Given the description of an element on the screen output the (x, y) to click on. 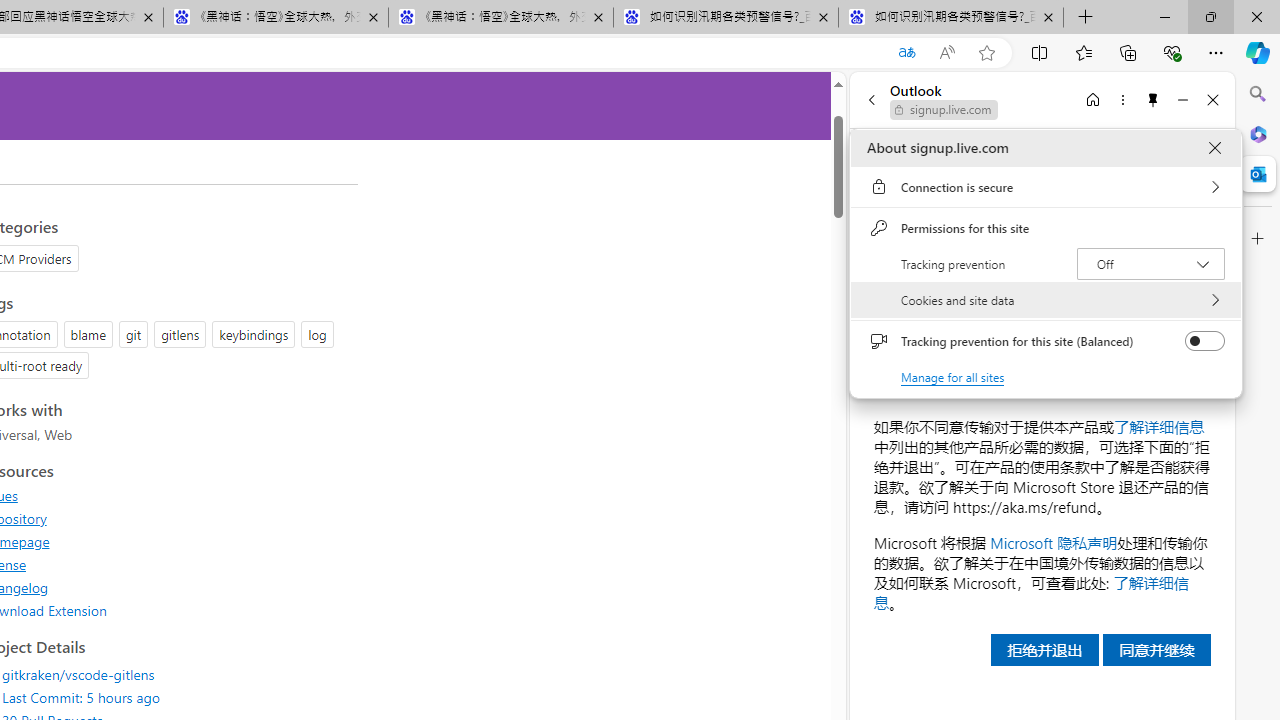
Manage for all sites (952, 376)
Cookies and site data (1046, 300)
About signup.live.com (1214, 147)
Connection is secure (1046, 187)
Permissions for this site (1046, 228)
Tracking prevention Off (1150, 263)
Tracking prevention for this site (Balanced) (1204, 341)
